Given the description of an element on the screen output the (x, y) to click on. 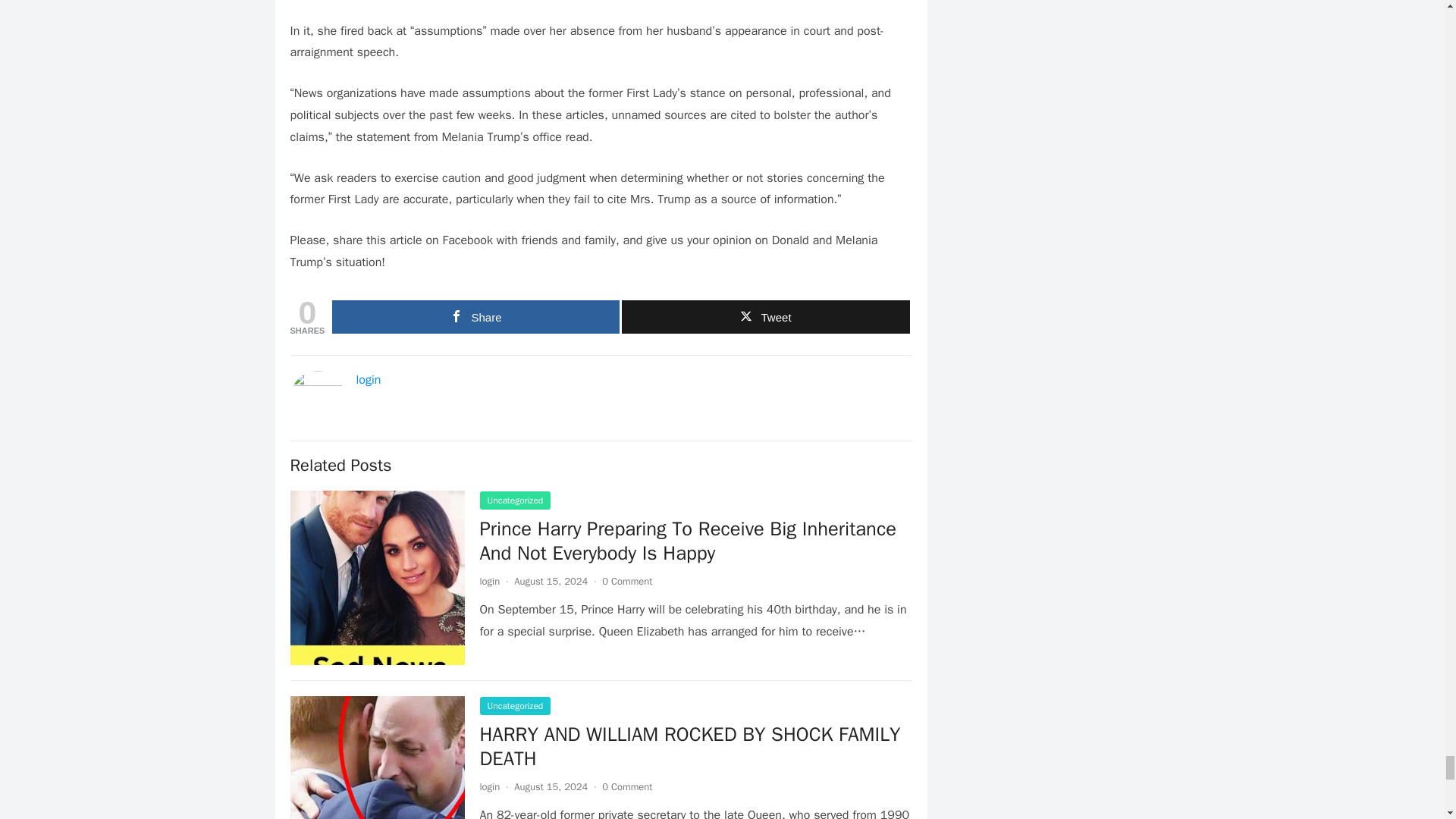
Posts by login (489, 786)
HARRY AND WILLIAM ROCKED BY SHOCK FAMILY DEATH (689, 746)
Uncategorized (514, 705)
login (489, 581)
login (368, 379)
login (489, 786)
0 Comment (627, 581)
Uncategorized (514, 500)
Share (475, 316)
Tweet (764, 316)
